Given the description of an element on the screen output the (x, y) to click on. 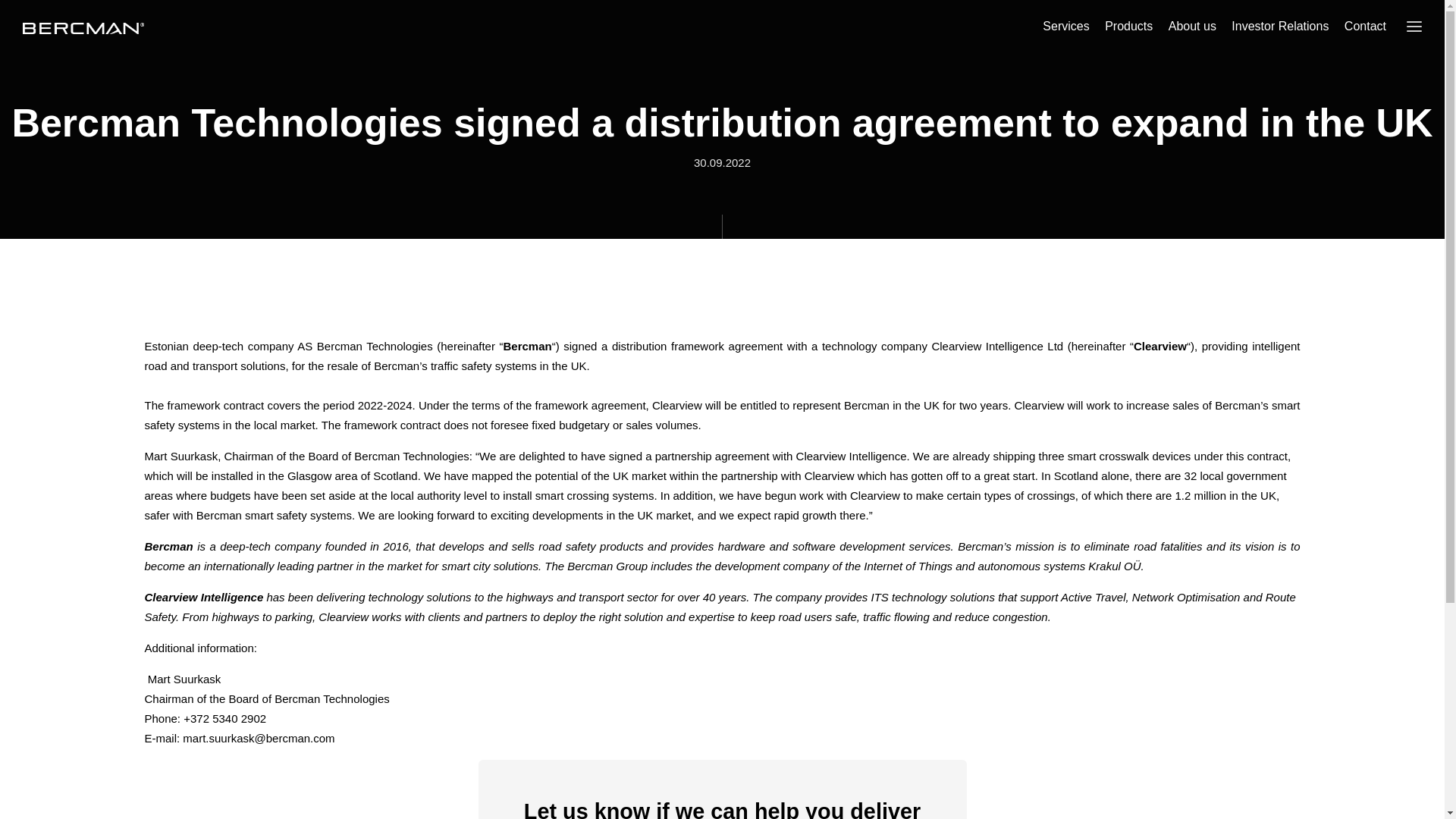
Products (1129, 25)
Contact (1364, 25)
Services (1065, 25)
Investor Relations (1279, 25)
About us (1192, 25)
